Given the description of an element on the screen output the (x, y) to click on. 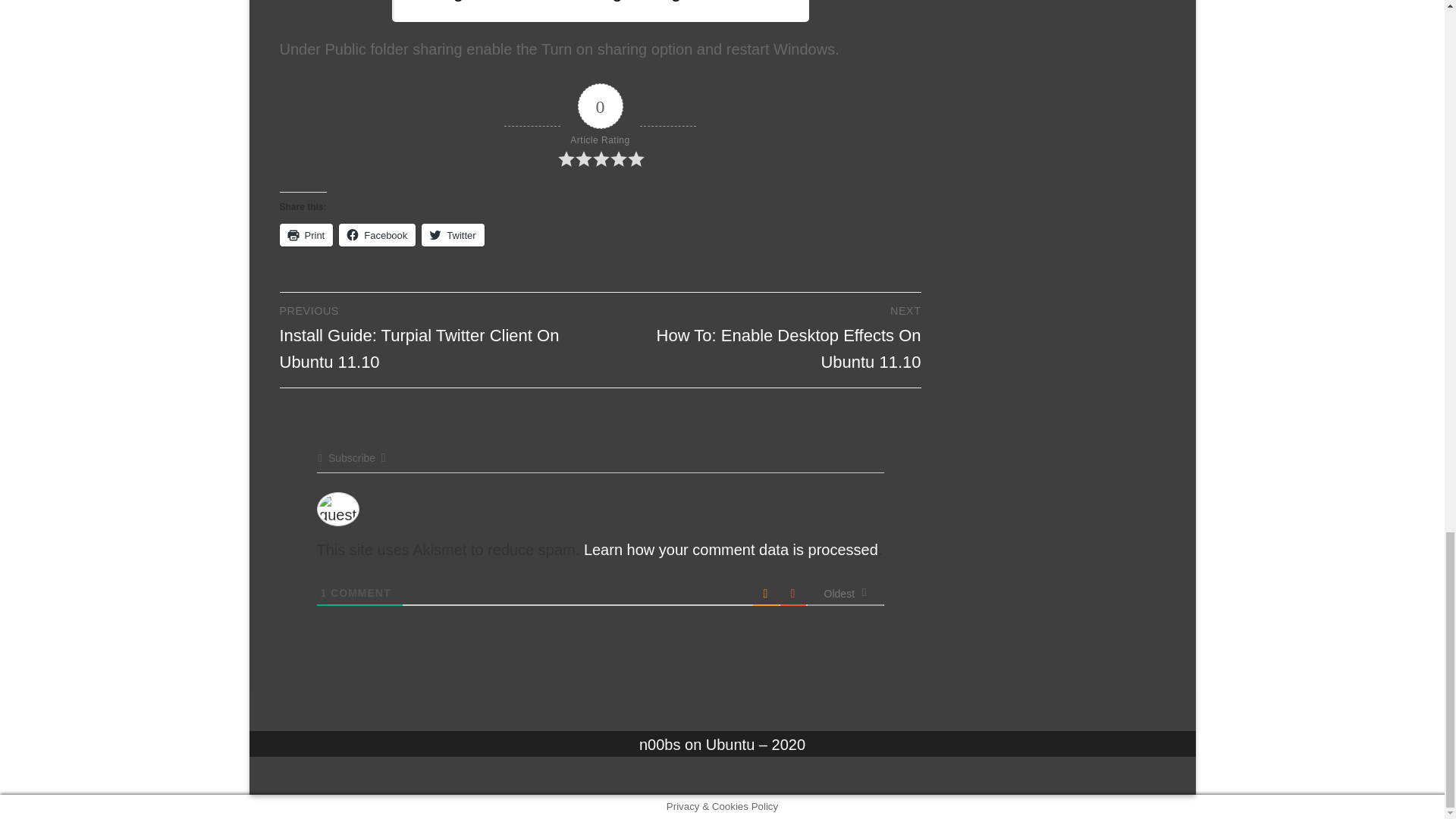
Click to print (306, 234)
Click to share on Facebook (376, 234)
Click to share on Twitter (452, 234)
